Given the description of an element on the screen output the (x, y) to click on. 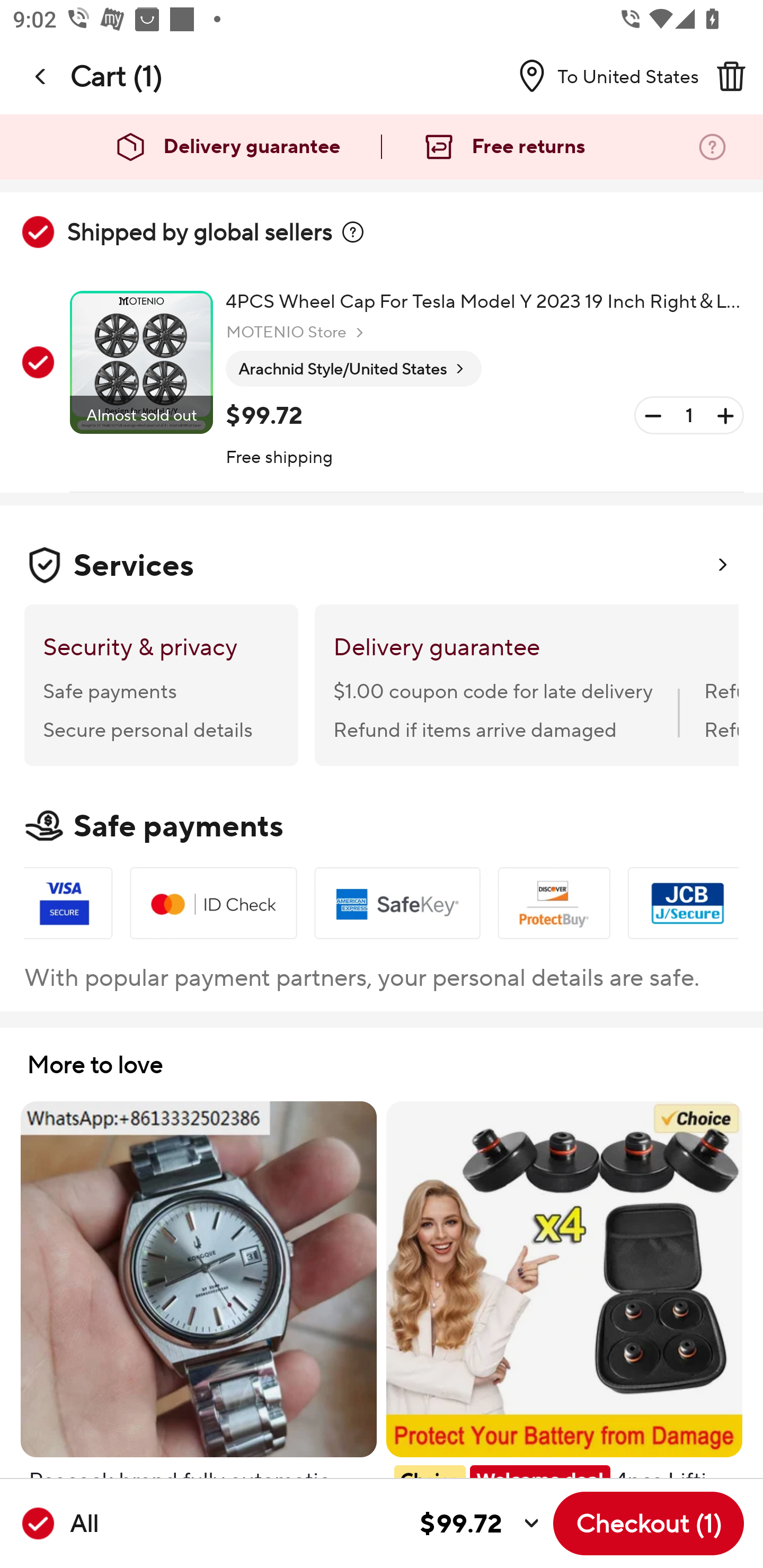
 (41, 76)
 To United States (601, 75)
 (730, 75)
 (352, 231)
MOTENIO Store (296, 333)
Arachnid Style/United States (353, 369)
1 (688, 415)
$_99.72  (324, 1523)
Checkout (1) (648, 1523)
